Given the description of an element on the screen output the (x, y) to click on. 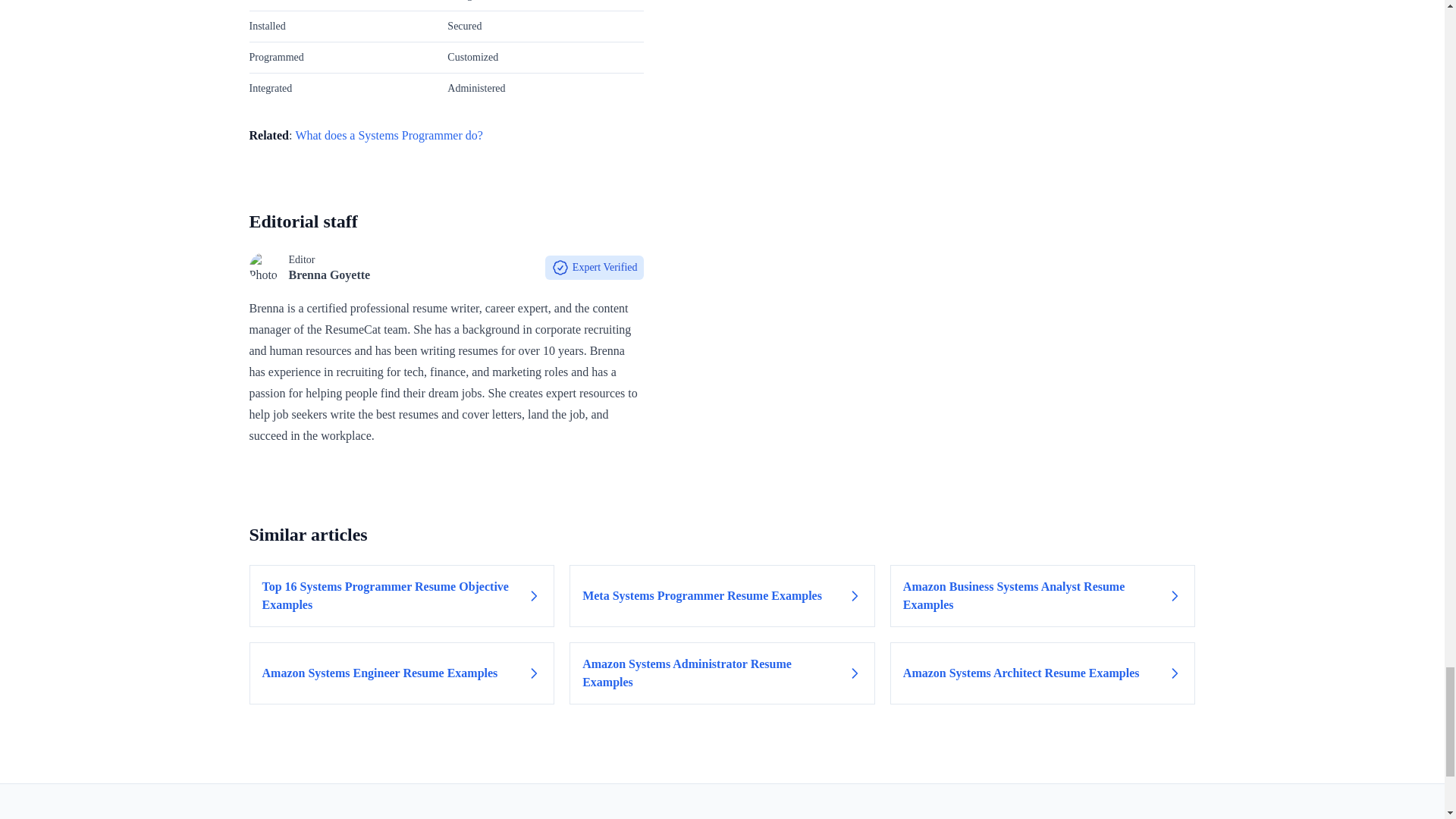
Amazon Systems Administrator Resume Examples (722, 673)
Amazon Systems Engineer Resume Examples (401, 673)
Top 16 Systems Programmer Resume Objective Examples (401, 596)
Amazon Systems Architect Resume Examples (1042, 673)
Amazon Business Systems Analyst Resume Examples (1042, 596)
What does a Systems Programmer do? (389, 134)
Meta Systems Programmer Resume Examples (722, 596)
